Given the description of an element on the screen output the (x, y) to click on. 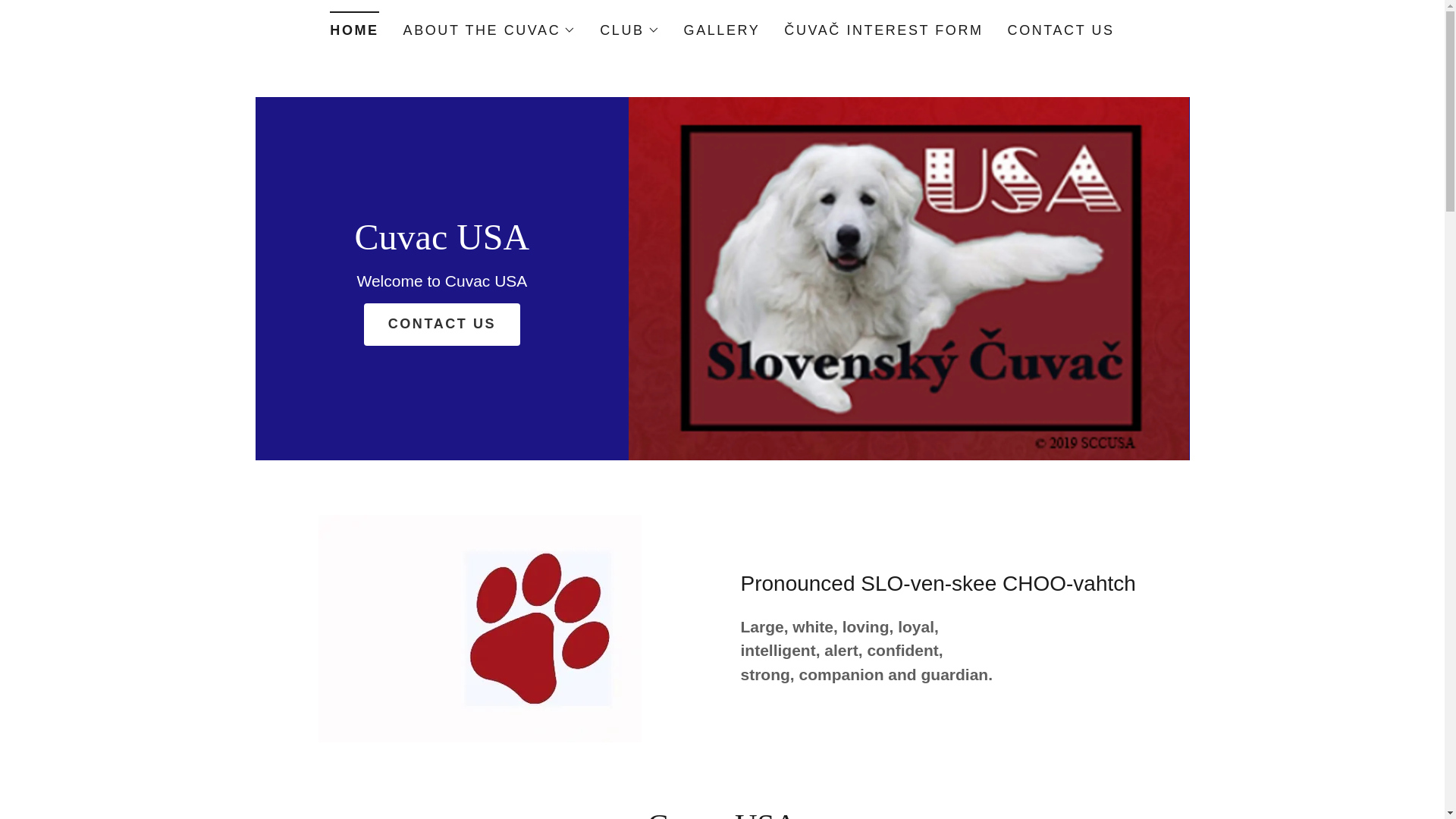
GALLERY (722, 30)
HOME (354, 25)
CONTACT US (1061, 30)
Cuvac USA (441, 243)
ABOUT THE CUVAC (489, 30)
CLUB (629, 30)
